Given the description of an element on the screen output the (x, y) to click on. 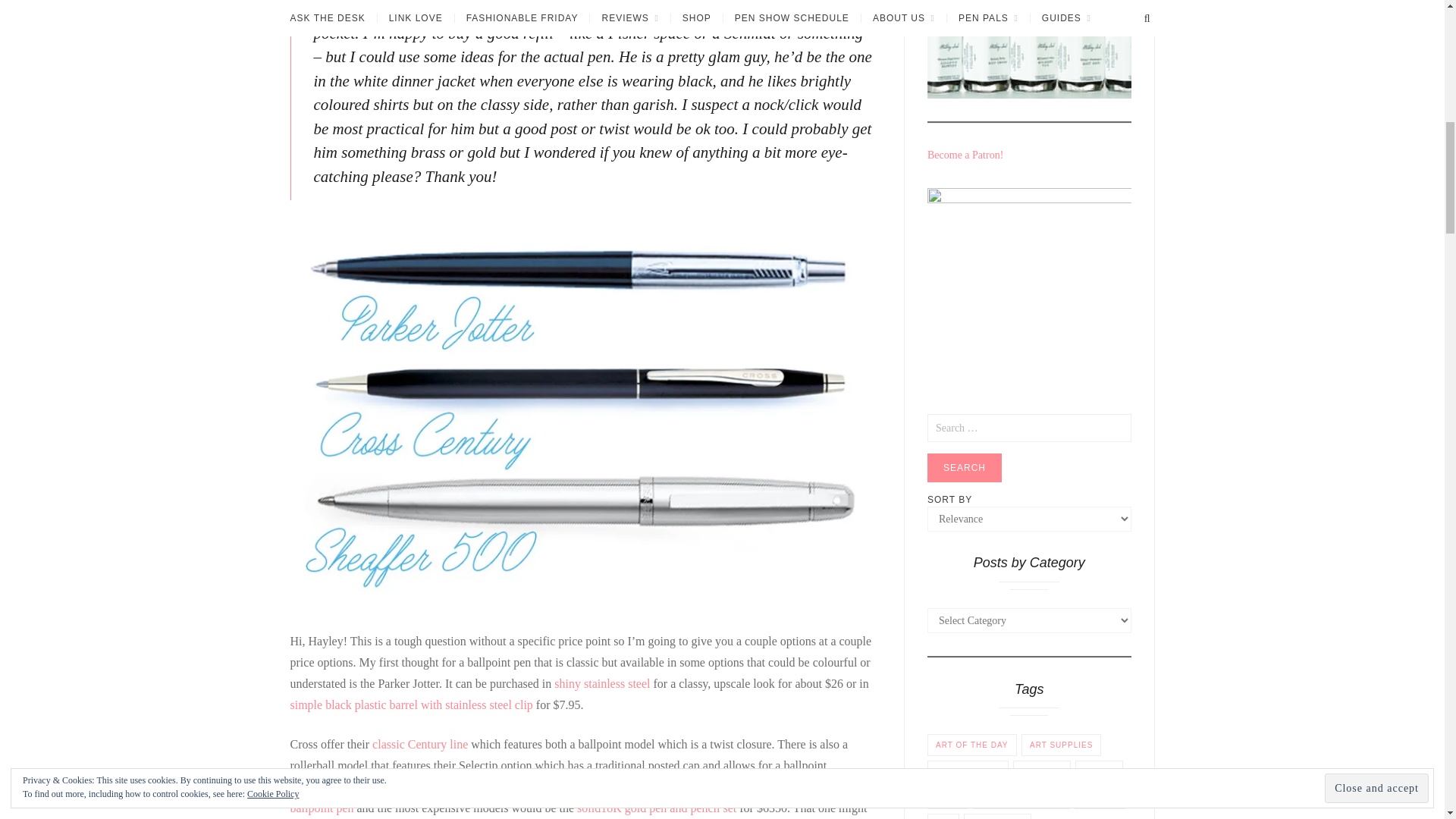
black chrome plated ballpoint pen (560, 797)
simple black plastic barrel with stainless steel clip (410, 704)
Search (964, 467)
shiny stainless steel (601, 683)
solid18K gold pen and pencil set (656, 807)
Search (964, 467)
classic Century line (419, 744)
